Given the description of an element on the screen output the (x, y) to click on. 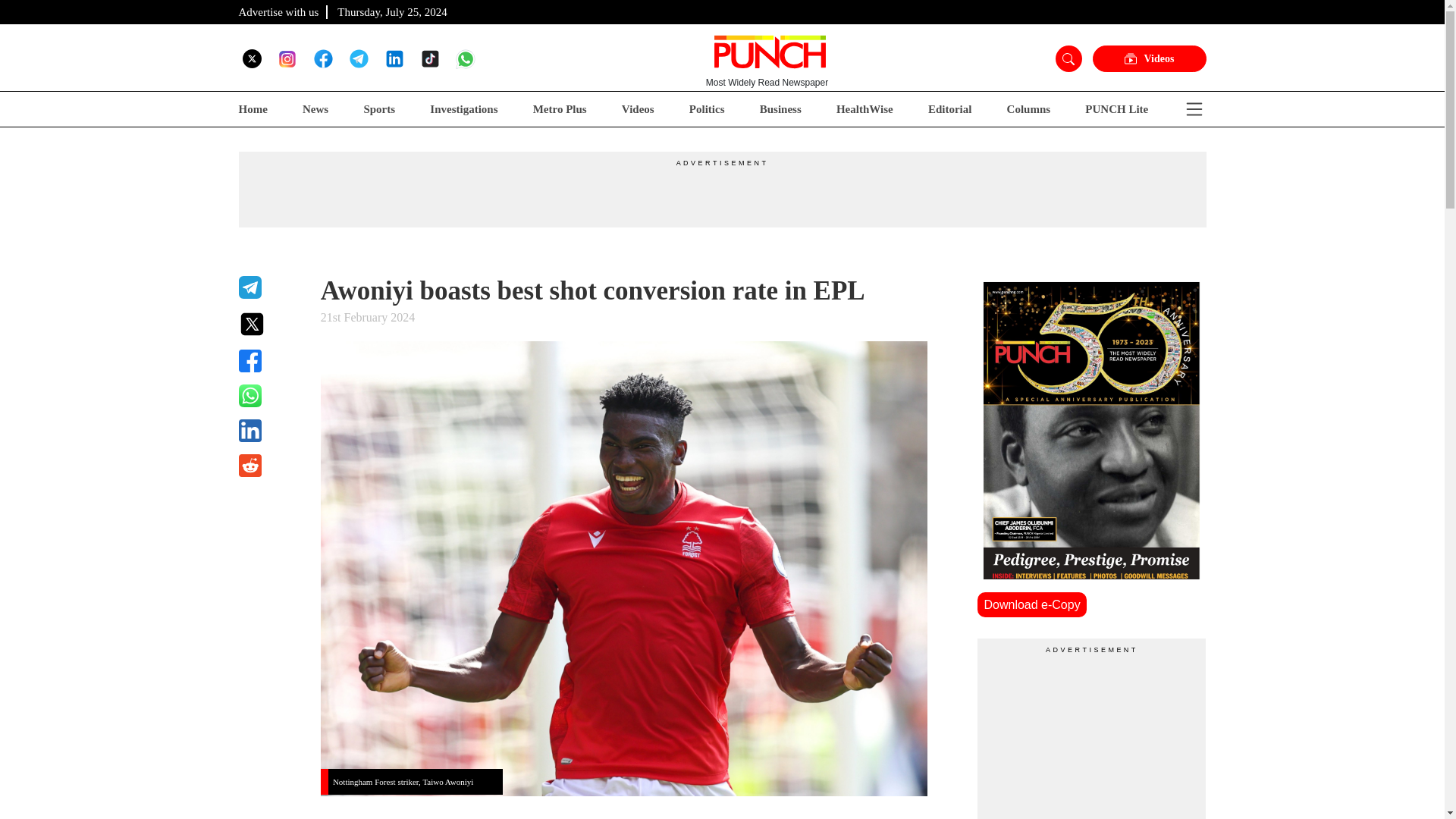
Thursday, July 25, 2024 (391, 11)
Follow us on Linkedin (395, 58)
Share on Telegram (269, 287)
Follow Us on Facebook (323, 58)
Follow Our Channel on Telegram (358, 58)
Editorial (950, 109)
Investigations (463, 109)
Share on Reddit (269, 465)
Metro Plus (559, 109)
Politics (706, 109)
Share on Linkedin (269, 430)
Advertise with us (278, 11)
Follow us on Tiktok (430, 58)
Follow Us on X (252, 58)
Videos (1148, 58)
